Given the description of an element on the screen output the (x, y) to click on. 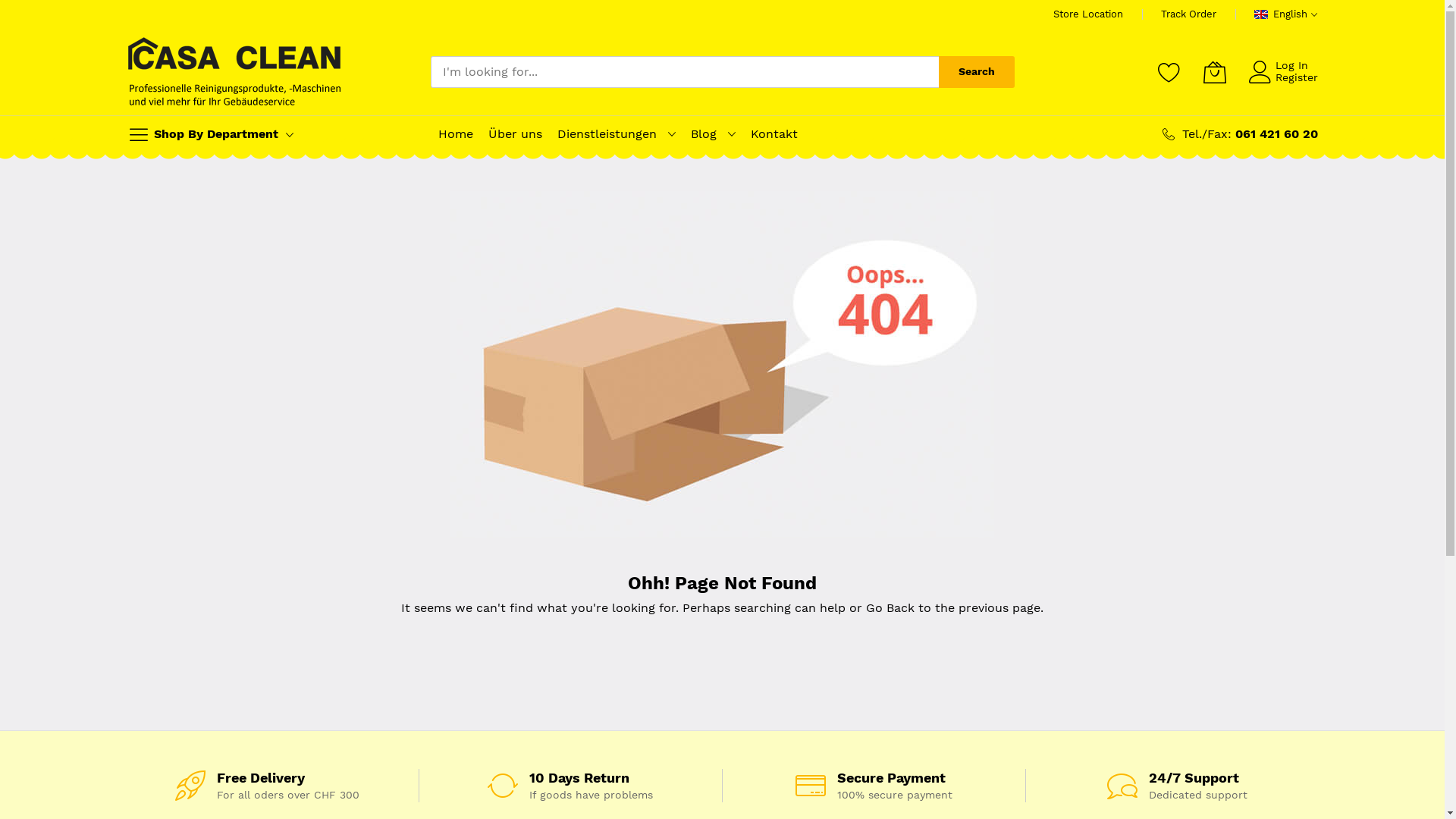
Register Element type: text (1296, 77)
Track Order Element type: text (1188, 13)
Log In Element type: text (1291, 65)
Go Back Element type: text (890, 607)
Blog Element type: text (702, 133)
Search Element type: text (976, 71)
Dienstleistungen Element type: text (605, 133)
Store Location Element type: text (1088, 13)
Home Element type: text (455, 133)
Kontakt Element type: text (773, 133)
